Given the description of an element on the screen output the (x, y) to click on. 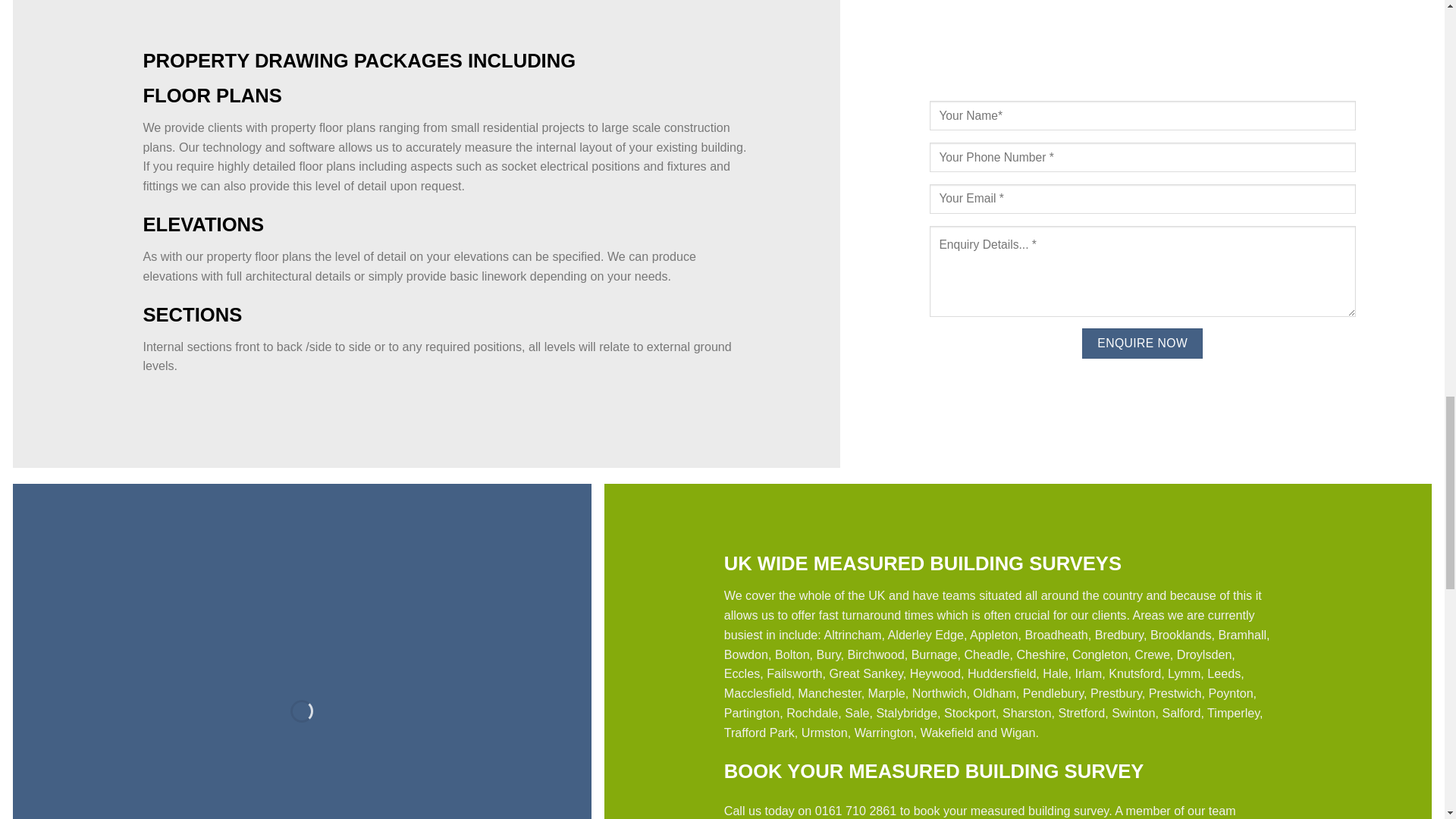
Droylsden (1203, 653)
Failsworth (794, 673)
Bury (828, 653)
Burnage (934, 653)
Cheadle (986, 653)
Crewe (1152, 653)
Cheshire (1040, 653)
Brooklands (1180, 634)
Bredbury (1118, 634)
Enquire Now (1141, 343)
